Given the description of an element on the screen output the (x, y) to click on. 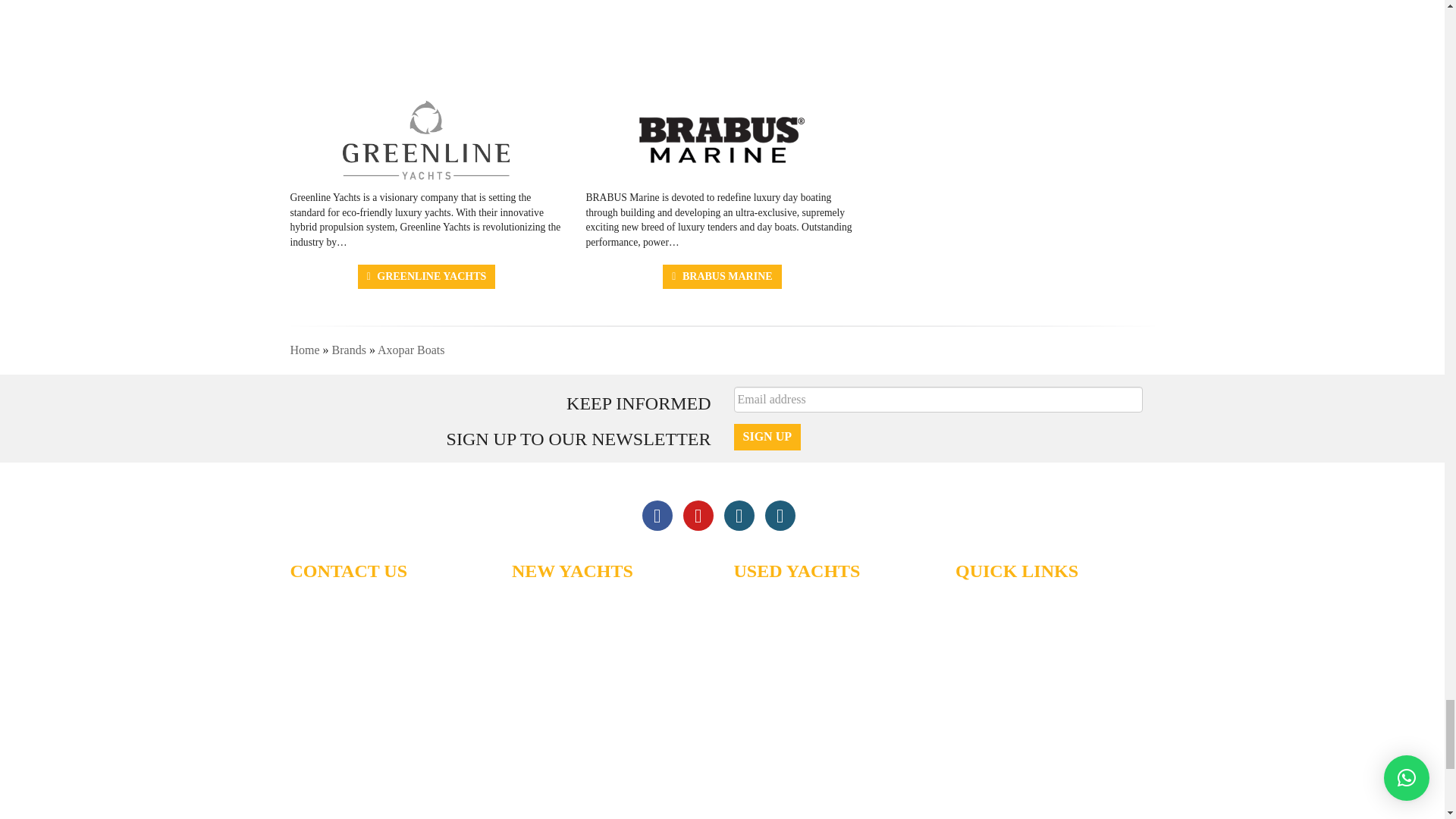
Sign Up (766, 437)
